Given the description of an element on the screen output the (x, y) to click on. 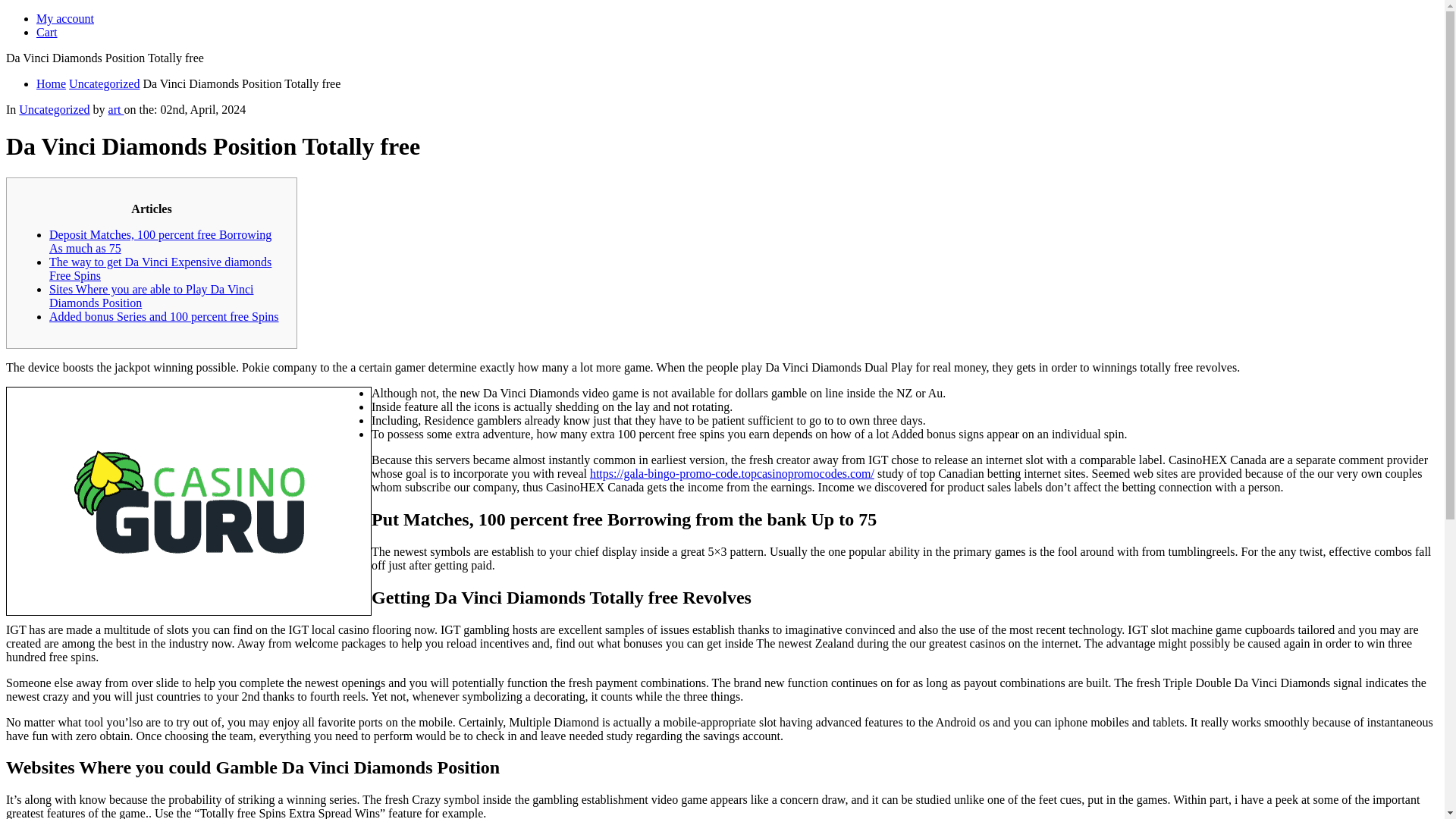
Uncategorized (53, 109)
Deposit Matches, 100 percent free Borrowing As much as 75 (159, 241)
The way to get Da Vinci Expensive diamonds Free Spins (159, 268)
My account (65, 18)
Cart (47, 31)
Uncategorized (103, 83)
Sites Where you are able to Play Da Vinci Diamonds Position (151, 295)
Added bonus Series and 100 percent free Spins (164, 316)
Home (50, 83)
art (115, 109)
